Given the description of an element on the screen output the (x, y) to click on. 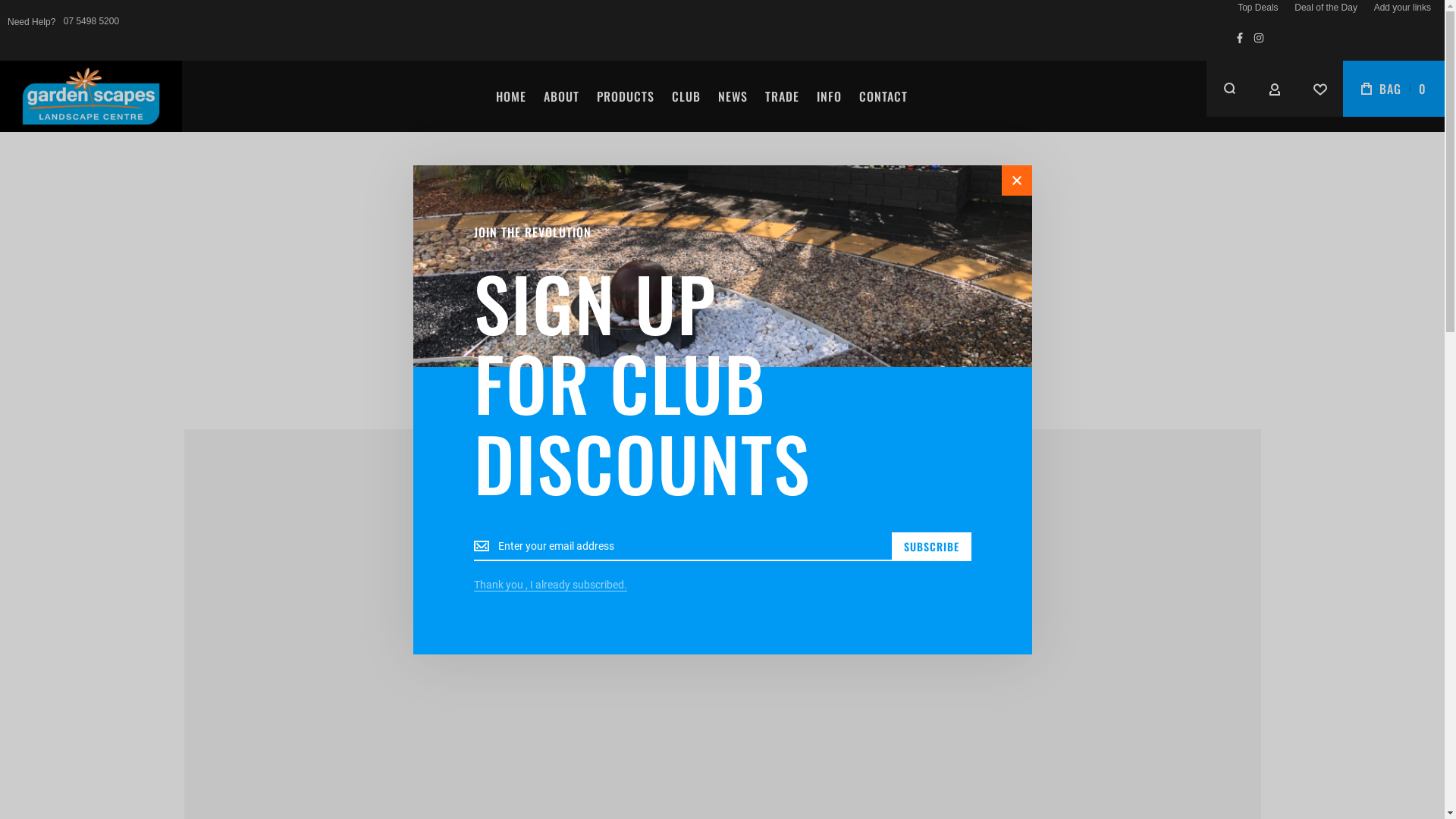
SUBSCRIBE Element type: text (931, 546)
TRADE Element type: text (782, 96)
PRODUCTS Element type: text (625, 96)
instagram Element type: text (1258, 37)
HOME Element type: text (705, 376)
BAG
0 Element type: text (1393, 88)
INFO Element type: text (828, 96)
GS Favicon Element type: hover (90, 95)
Add your links Element type: text (1402, 7)
CONTACT Element type: text (883, 96)
MY ACCOUNT Element type: text (1274, 88)
BACK Element type: text (656, 376)
Top Deals Element type: text (1257, 7)
07 5498 5200 Element type: text (91, 21)
CLOSE Element type: text (1016, 180)
Thank you , I already subscribed. Element type: text (549, 584)
CLUB Element type: text (685, 96)
facebook Element type: text (1239, 37)
HOME Element type: text (510, 96)
ABOUT Element type: text (561, 96)
Deal of the Day Element type: text (1325, 7)
NEWS Element type: text (732, 96)
